Given the description of an element on the screen output the (x, y) to click on. 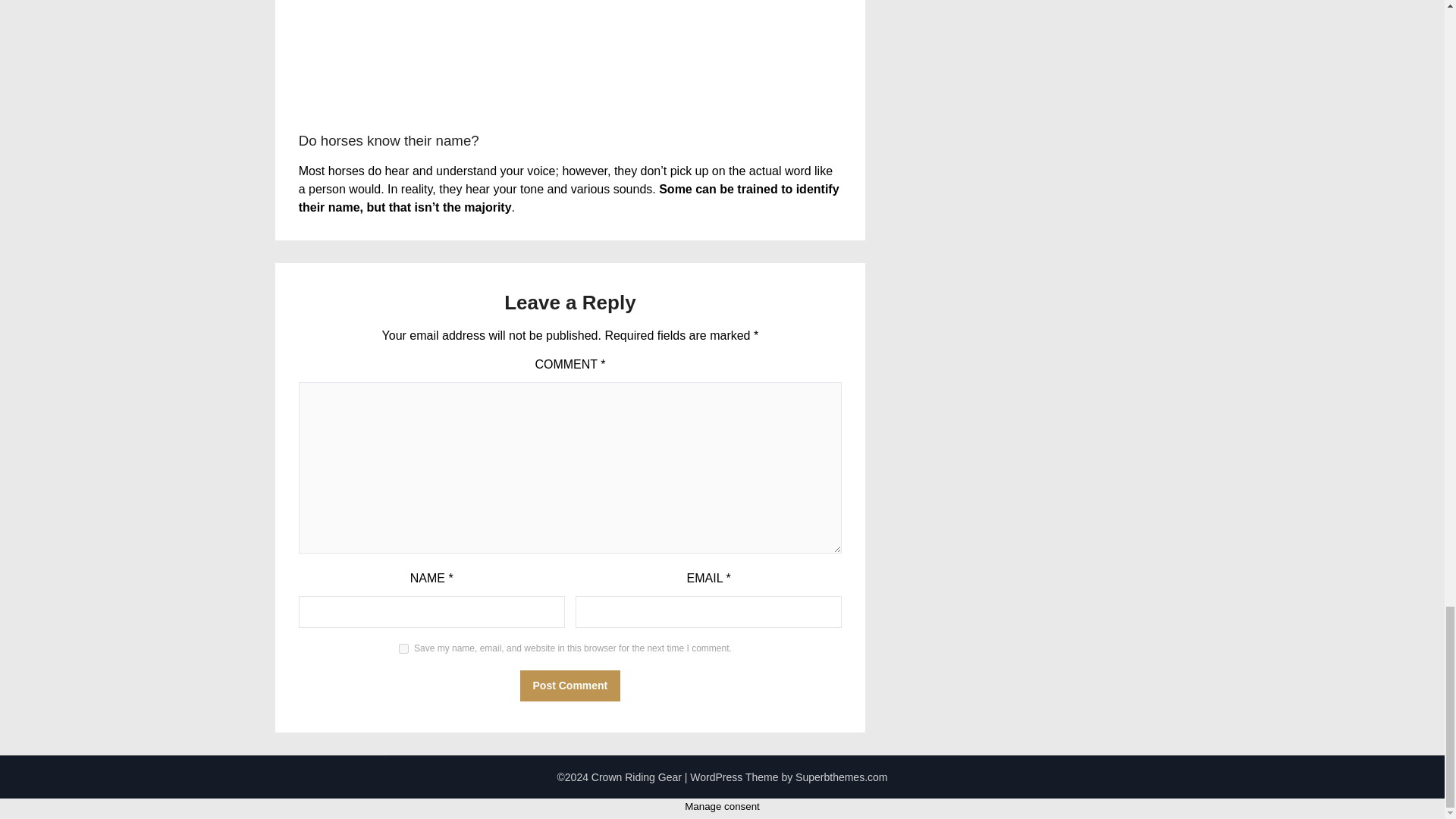
yes (403, 648)
Post Comment (570, 685)
Post Comment (570, 685)
